Given the description of an element on the screen output the (x, y) to click on. 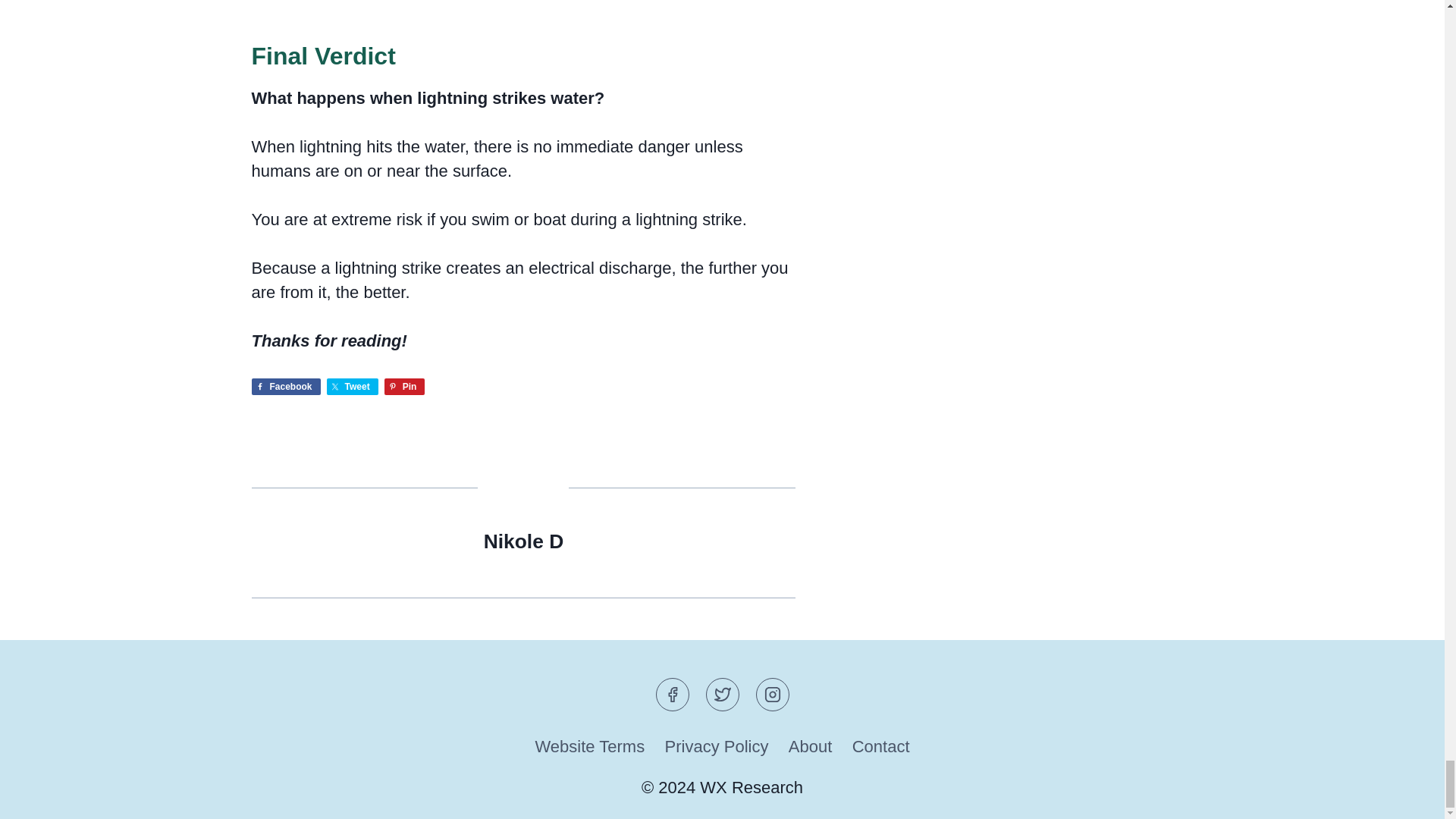
Share on Facebook (285, 386)
Nikole D (523, 540)
Pin (404, 386)
Share on Twitter (352, 386)
About (810, 747)
Privacy Policy (715, 747)
Tweet (352, 386)
Share on Pinterest (404, 386)
Facebook (285, 386)
Website Terms (588, 747)
Posts by Nikole D (523, 540)
Contact (881, 747)
